Given the description of an element on the screen output the (x, y) to click on. 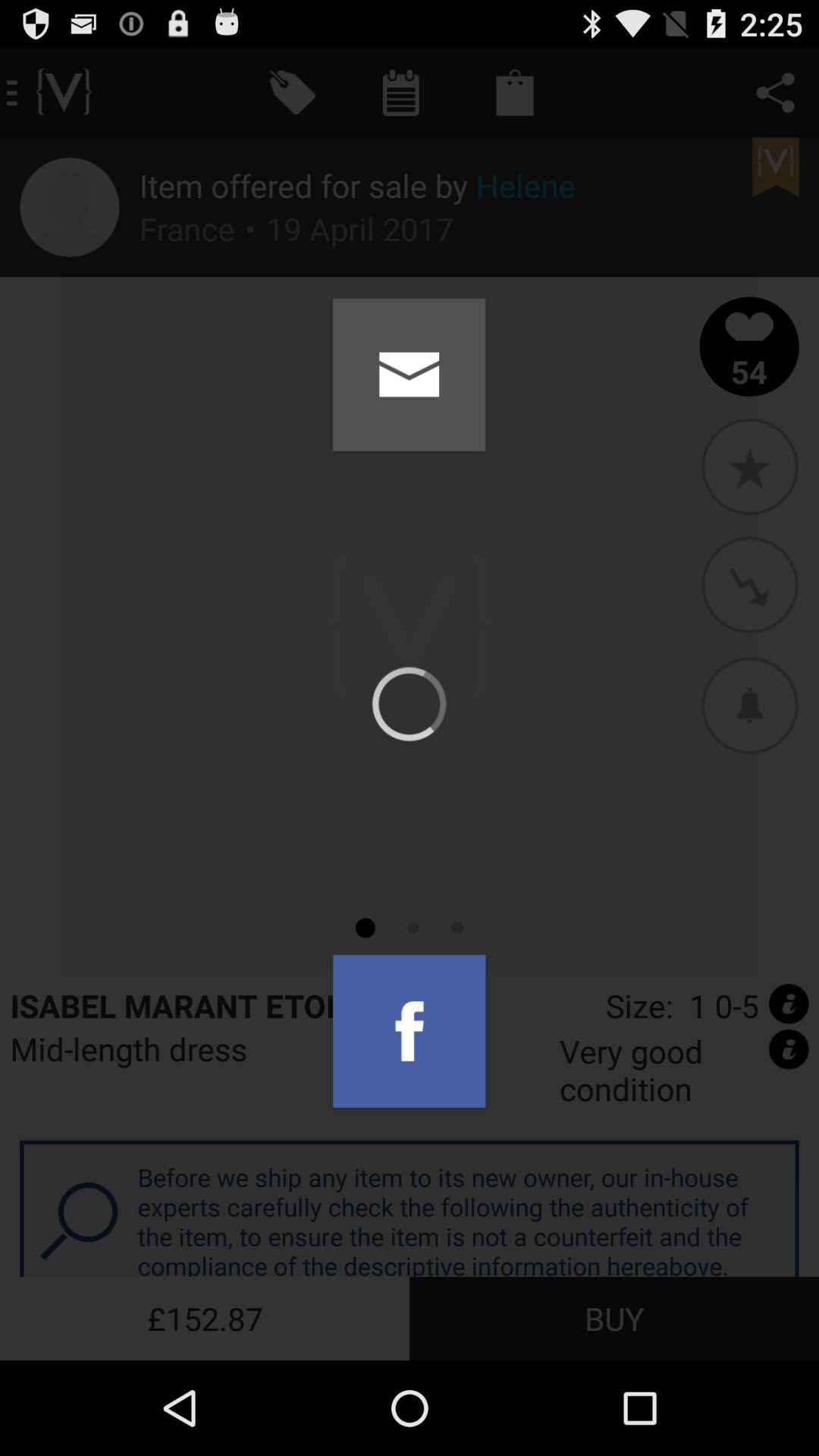
swipe until the buy icon (614, 1318)
